Given the description of an element on the screen output the (x, y) to click on. 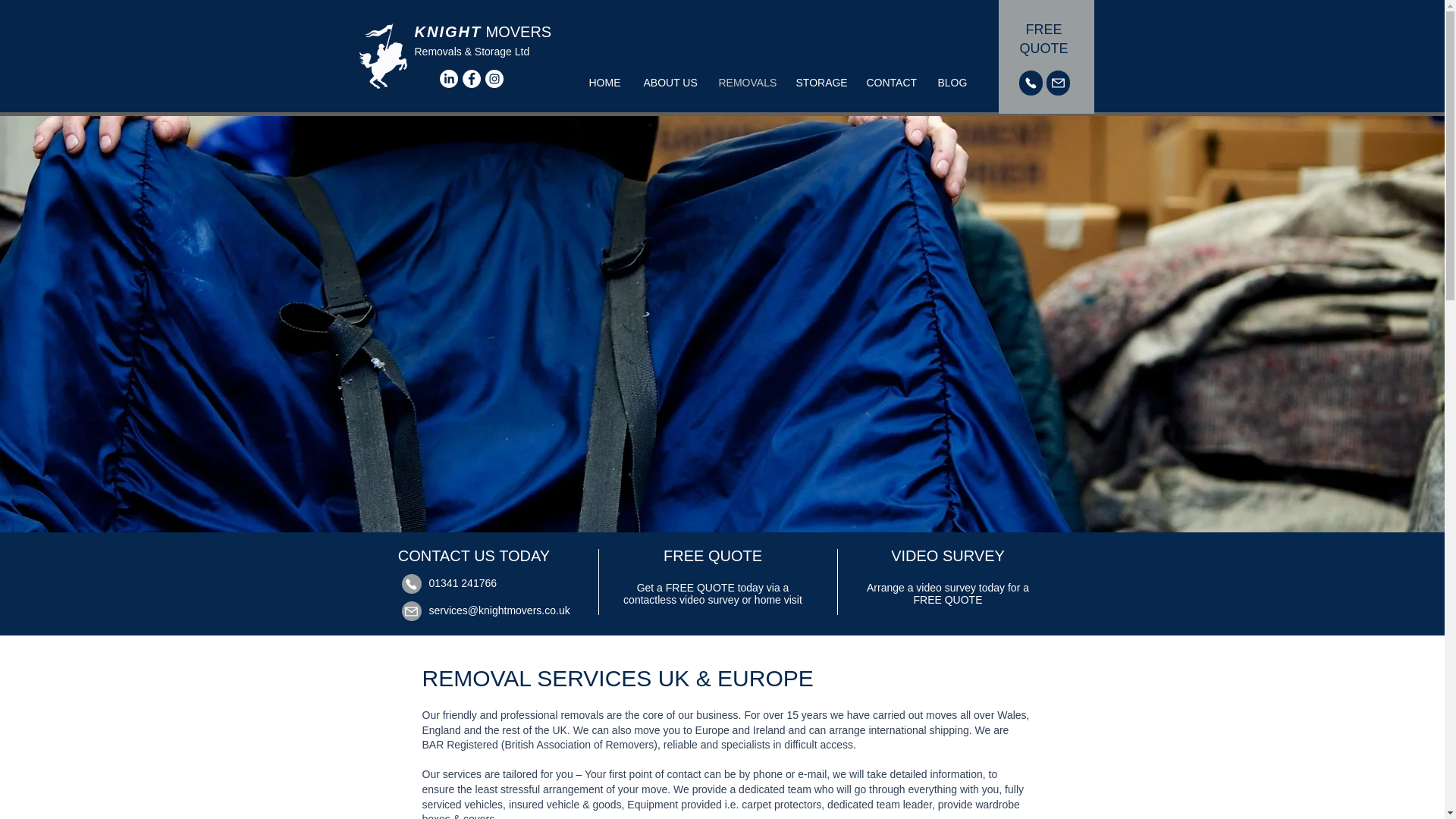
HOME (604, 82)
MOVERS (517, 31)
REMOVALS (745, 82)
BLOG (951, 82)
01341 241766 (463, 582)
VIDEO SURVEY (947, 555)
KNIGHT (447, 31)
Arrange a video survey today for a FREE QUOTE (947, 593)
ABOUT US (669, 82)
FREE QUOTE (1043, 39)
CONTACT (891, 82)
STORAGE (819, 82)
